Given the description of an element on the screen output the (x, y) to click on. 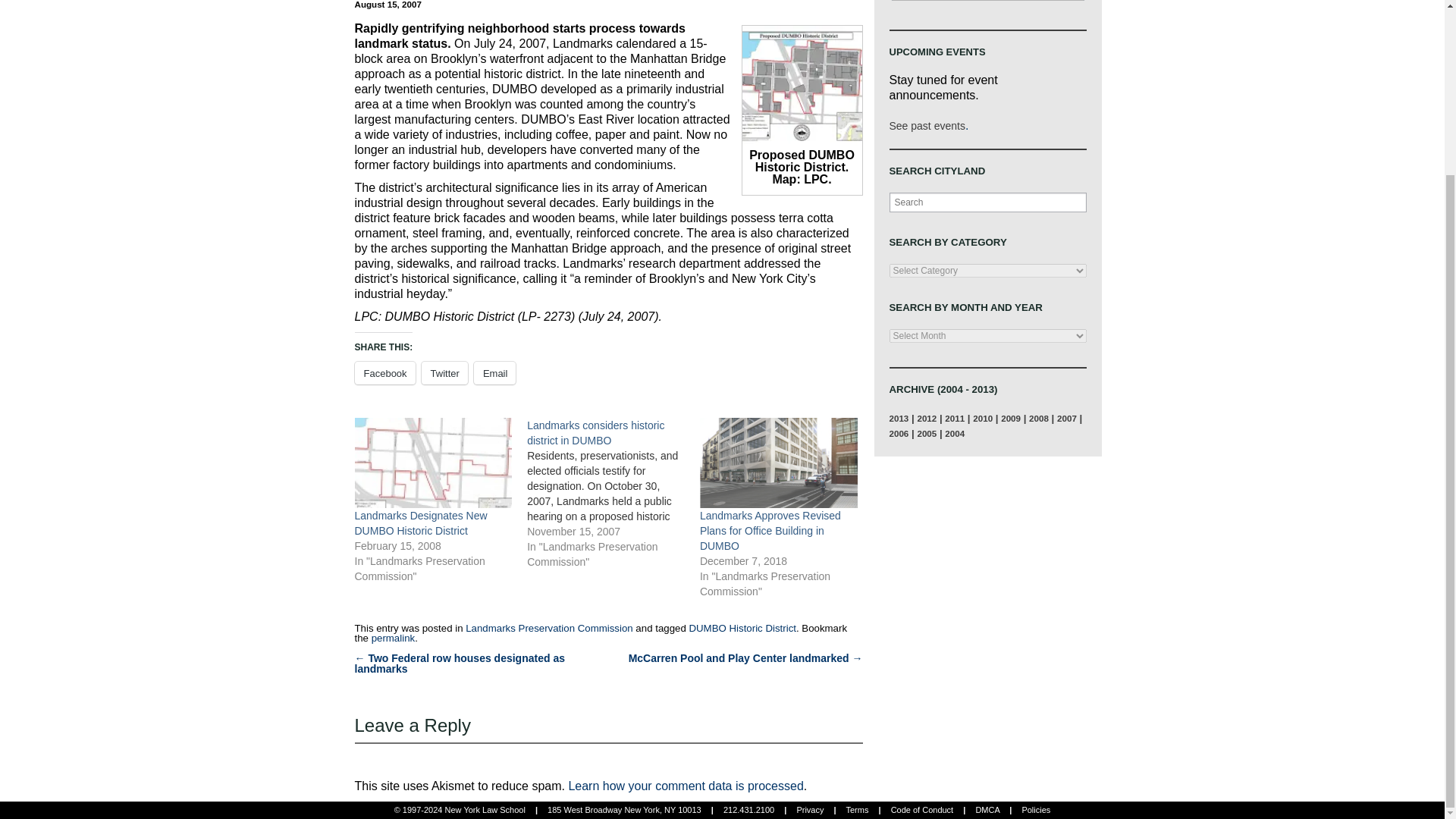
Landmarks Designates New DUMBO Historic District (433, 462)
permalink (392, 637)
12:21 pm (388, 4)
Click to share on Twitter (444, 372)
DUMBO Historic District (742, 627)
Landmarks considers historic district in DUMBO (595, 432)
2009 (1010, 418)
2013 (898, 418)
Landmarks Designates New DUMBO Historic District (421, 523)
2011 (953, 418)
2010 (982, 418)
Click to share on Facebook (384, 372)
Facebook (384, 372)
